Given the description of an element on the screen output the (x, y) to click on. 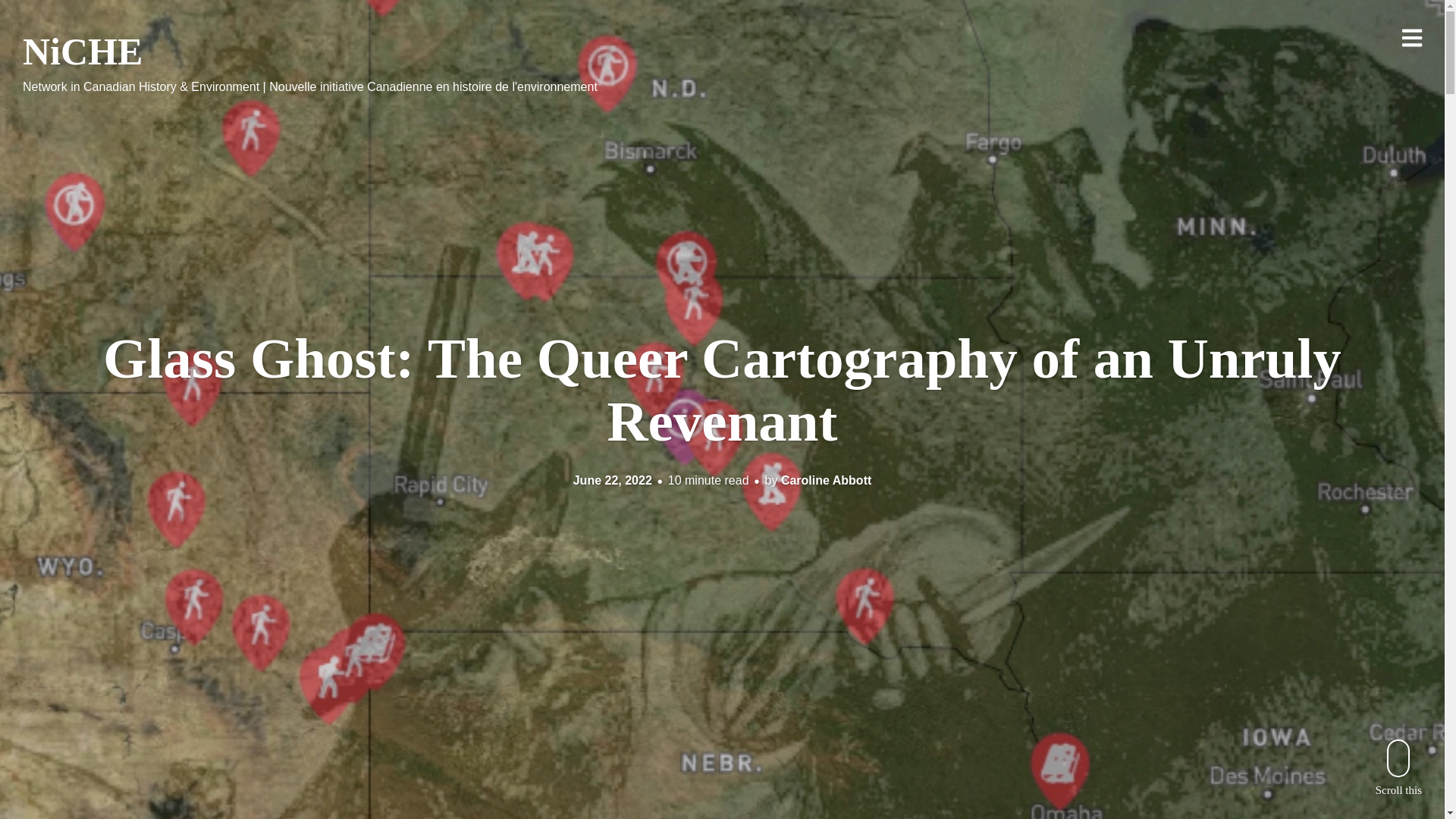
NiCHE (82, 51)
8:00 am (612, 480)
June 22, 2022 (612, 480)
Scroll this (1398, 767)
Caroline Abbott (825, 480)
